Given the description of an element on the screen output the (x, y) to click on. 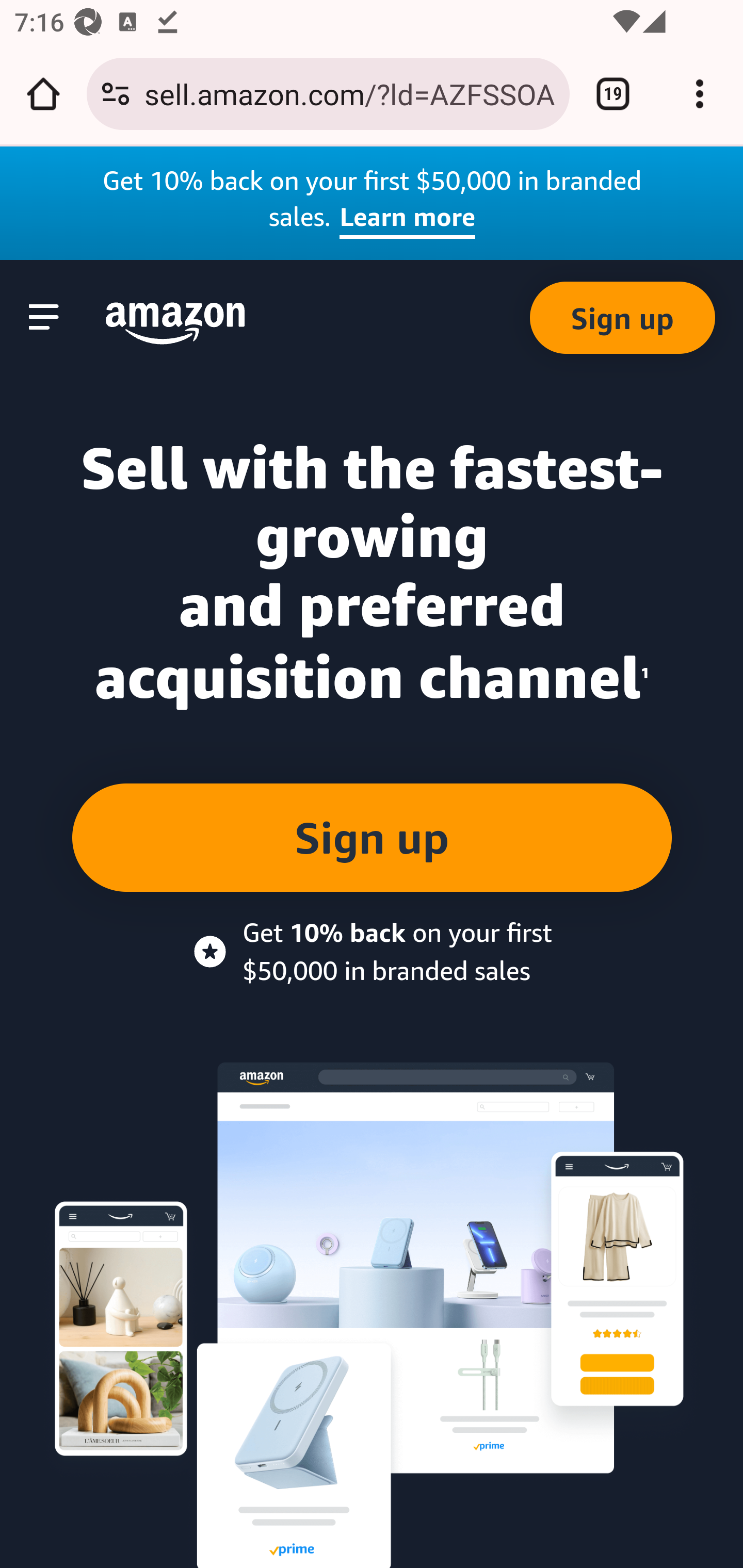
Open the home page (43, 93)
Connection is secure (115, 93)
Switch or close tabs (612, 93)
Customize and control Google Chrome (699, 93)
Learn more (408, 219)
Sign up (622, 318)
